Given the description of an element on the screen output the (x, y) to click on. 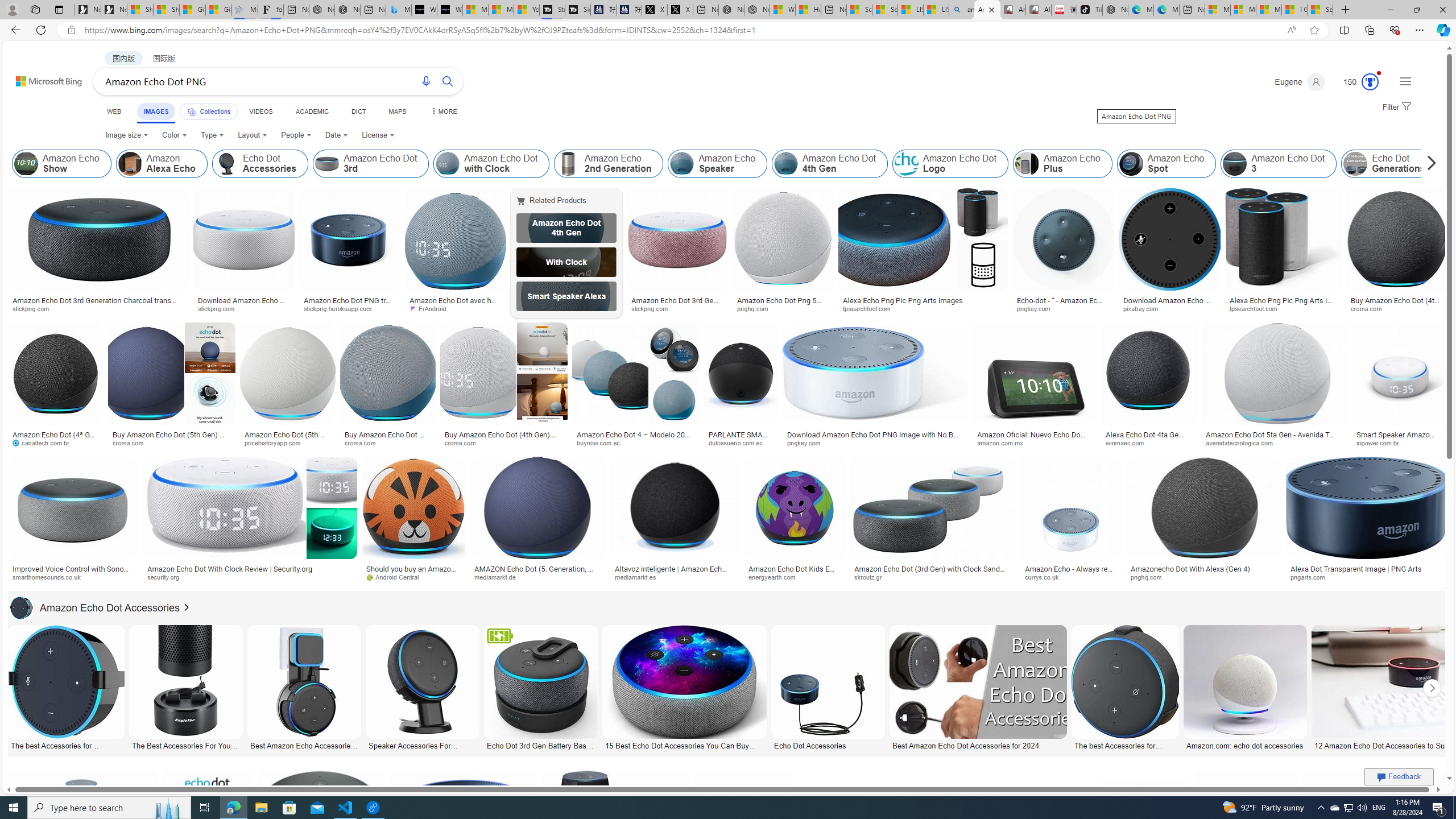
MORE (443, 111)
WEB (114, 111)
buynow.com.ec (601, 442)
With Clock (565, 261)
Alexa Echo Png Pic Png Arts Images (923, 299)
License (378, 135)
All Cubot phones (1037, 9)
Echo Dot Accessories (226, 163)
pngkey.com (807, 442)
Smart Speaker Alexa Echo Dot (565, 296)
stickpng.herokuapp.com (342, 308)
smarthomesounds.co.uk (73, 576)
